Given the description of an element on the screen output the (x, y) to click on. 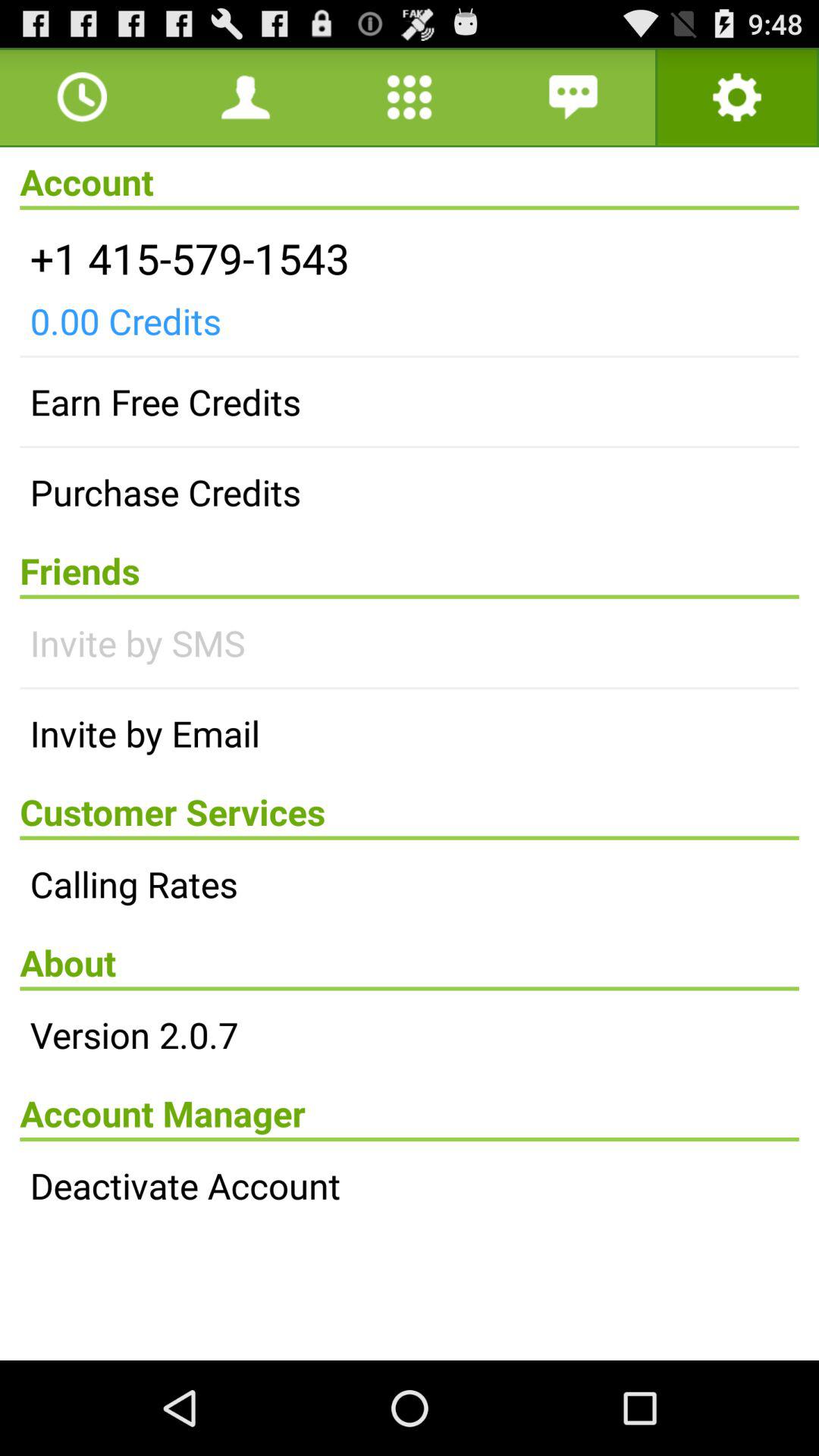
open the item above account manager (409, 1034)
